Given the description of an element on the screen output the (x, y) to click on. 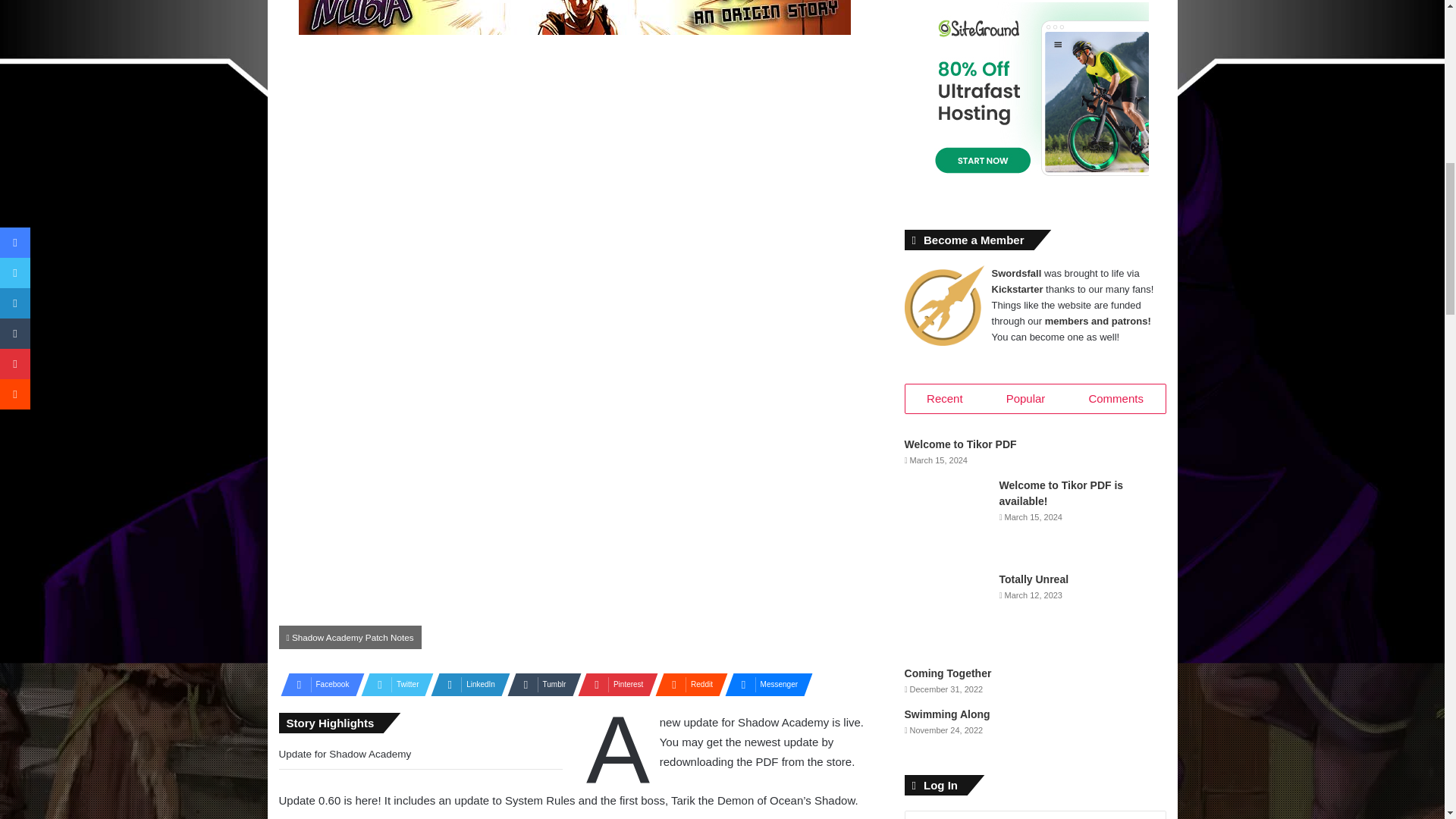
Pinterest (613, 684)
Facebook (318, 684)
Tumblr (539, 684)
LinkedIn (465, 684)
Twitter (393, 684)
Reddit (687, 684)
